Given the description of an element on the screen output the (x, y) to click on. 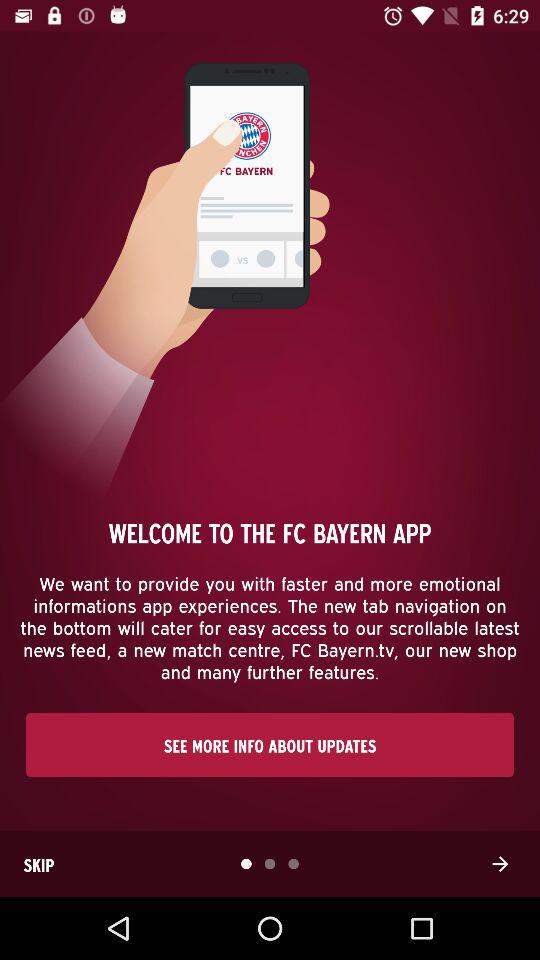
press the skip at the bottom left corner (39, 864)
